Given the description of an element on the screen output the (x, y) to click on. 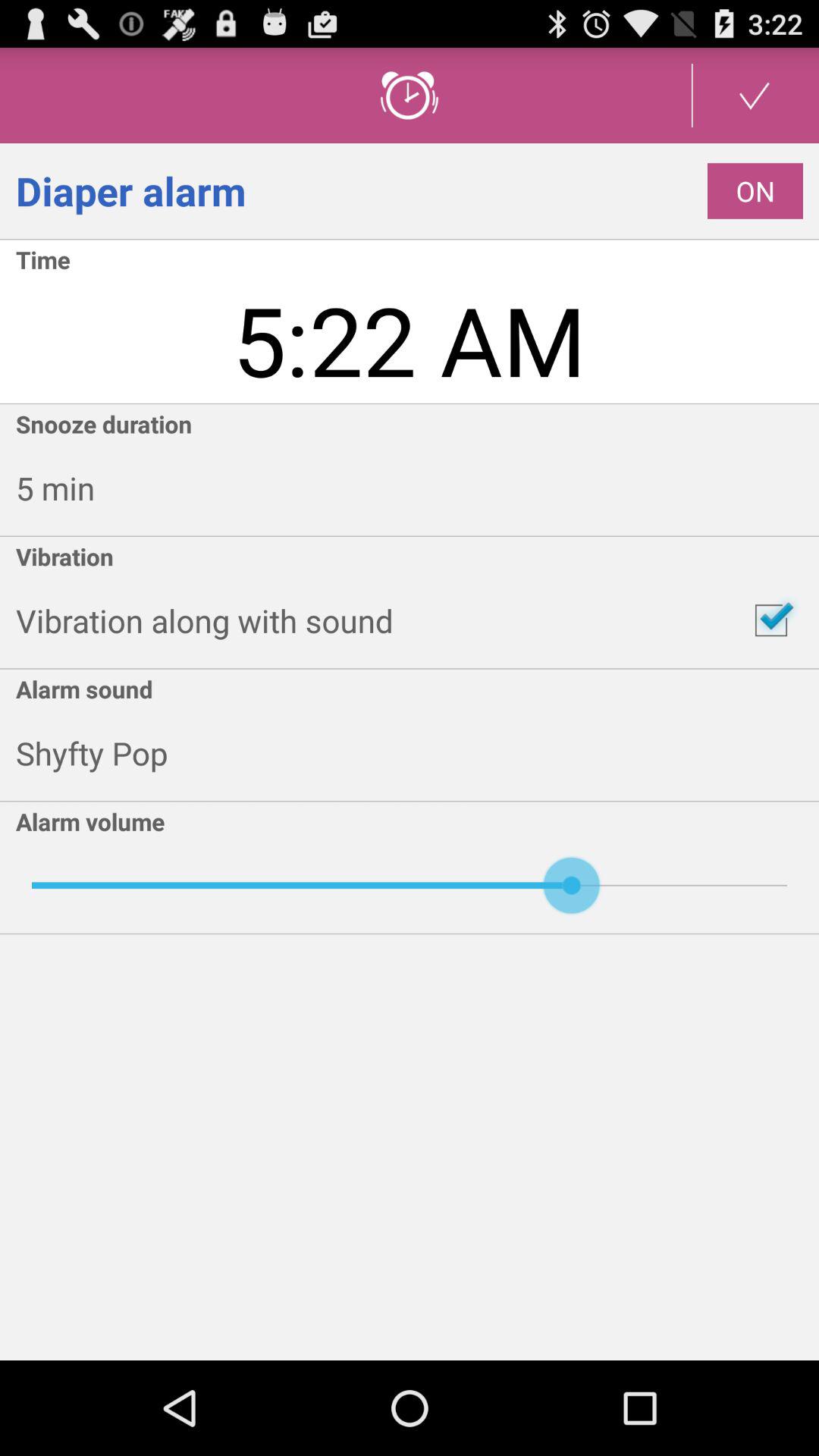
set up button (755, 95)
